Given the description of an element on the screen output the (x, y) to click on. 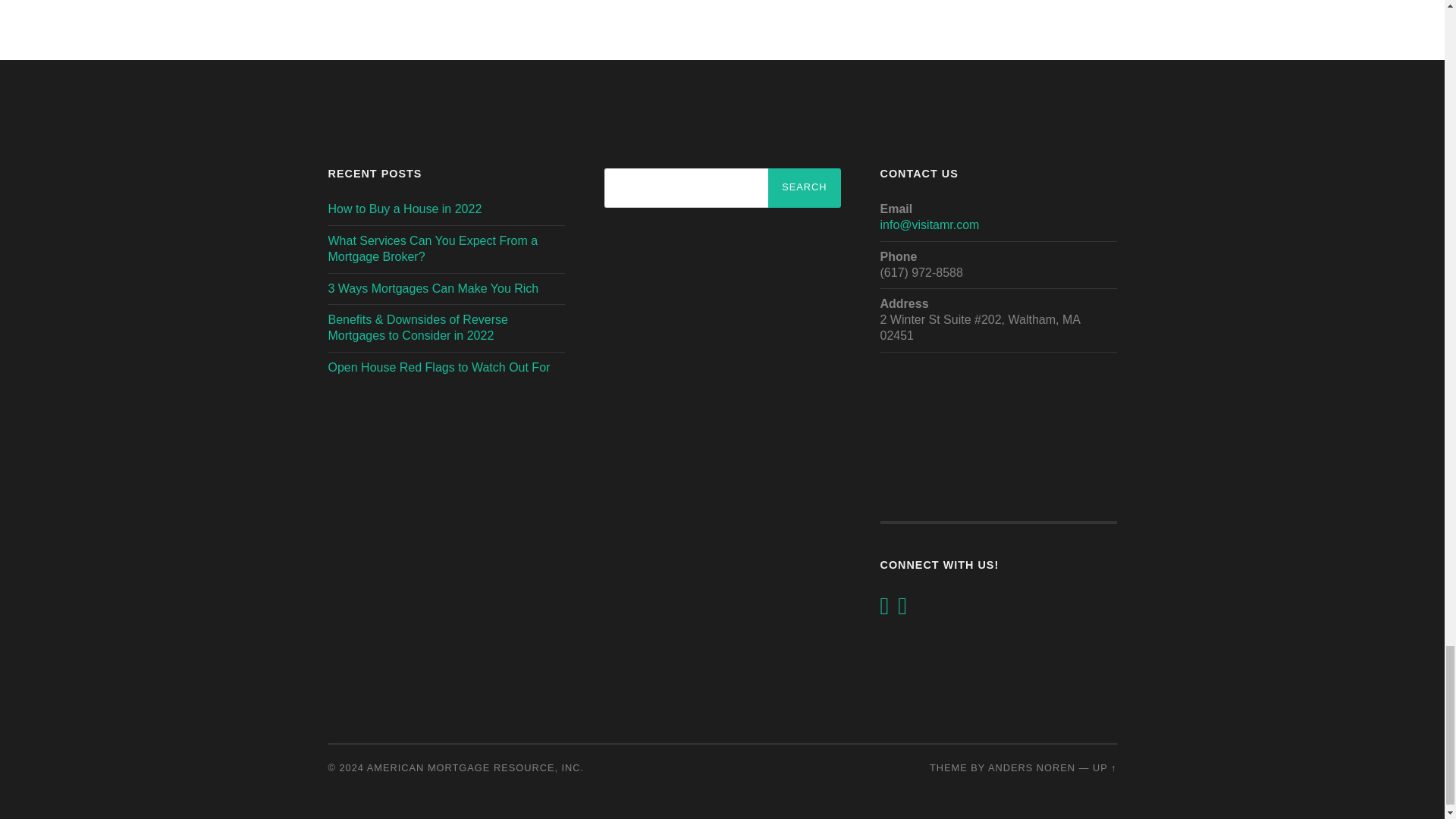
How to Buy a House in 2022 (404, 208)
What Services Can You Expect From a Mortgage Broker? (432, 248)
To the top (1104, 767)
Open House Red Flags to Watch Out For (438, 367)
Search (804, 188)
Search (804, 188)
3 Ways Mortgages Can Make You Rich (432, 287)
